Given the description of an element on the screen output the (x, y) to click on. 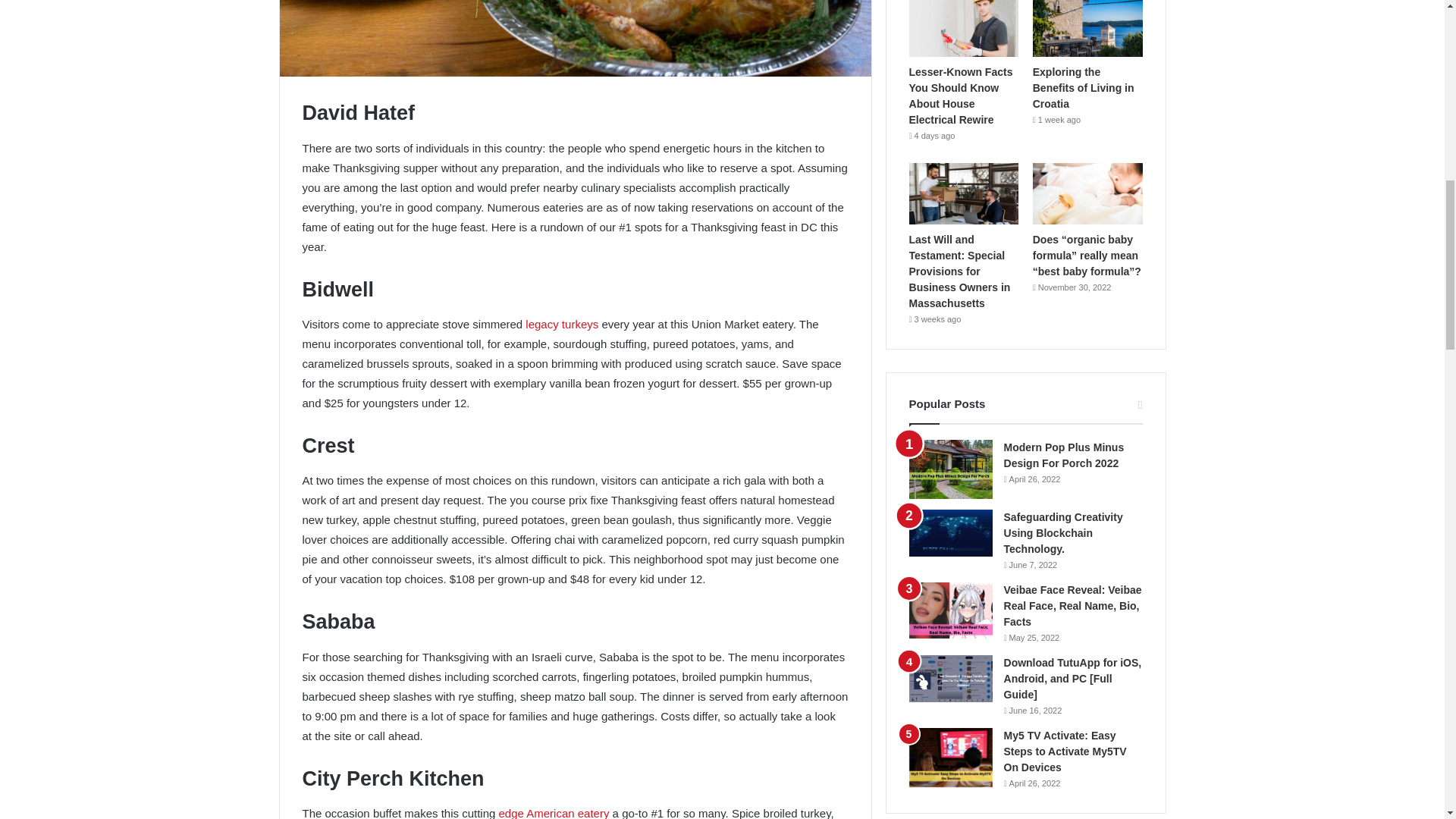
legacy turkeys (561, 323)
